Given the description of an element on the screen output the (x, y) to click on. 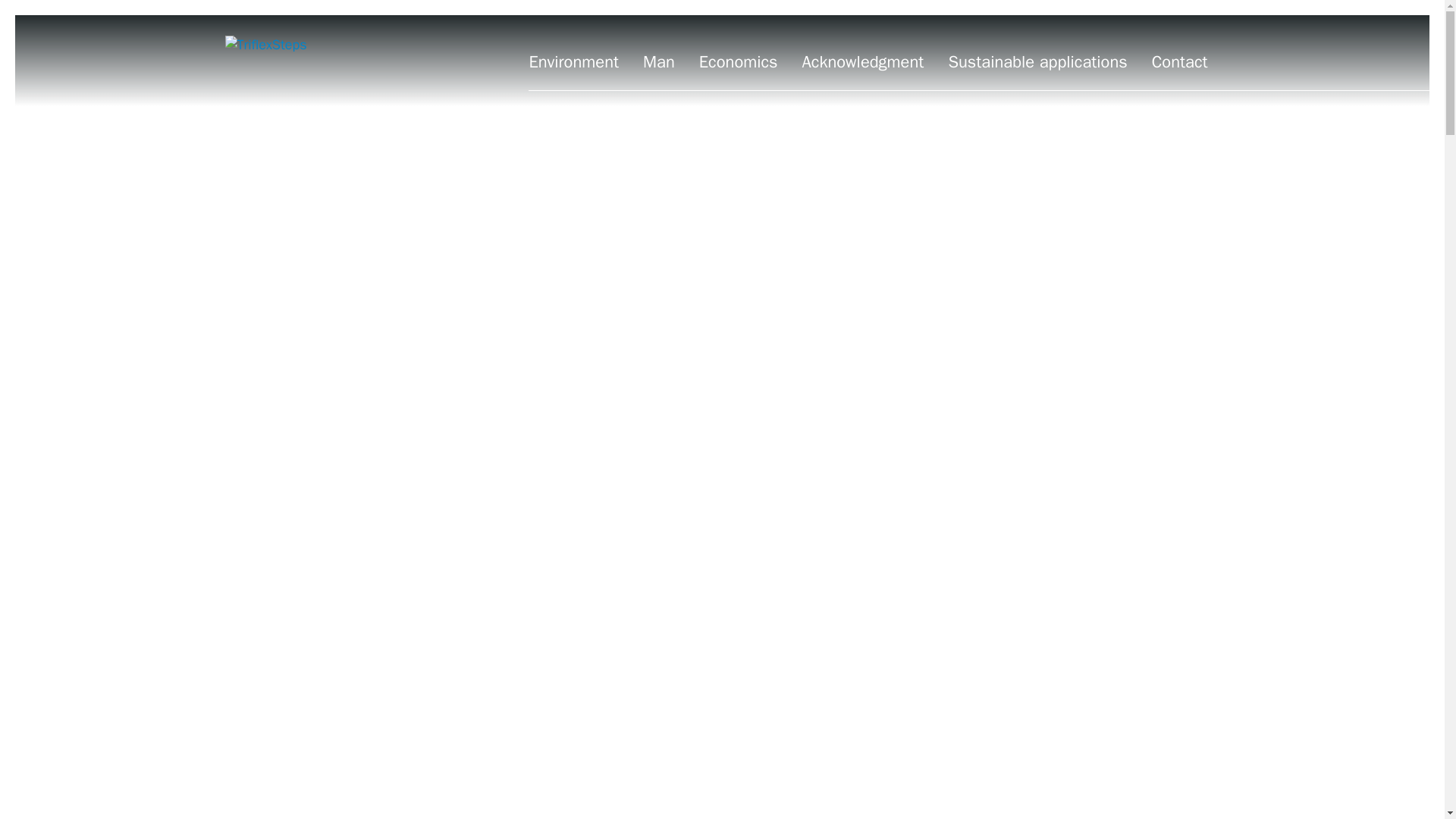
Man (659, 61)
Sustainable applications (1036, 61)
Contact (1179, 61)
Acknowledgment (863, 61)
Economics (737, 61)
Environment (573, 61)
